Given the description of an element on the screen output the (x, y) to click on. 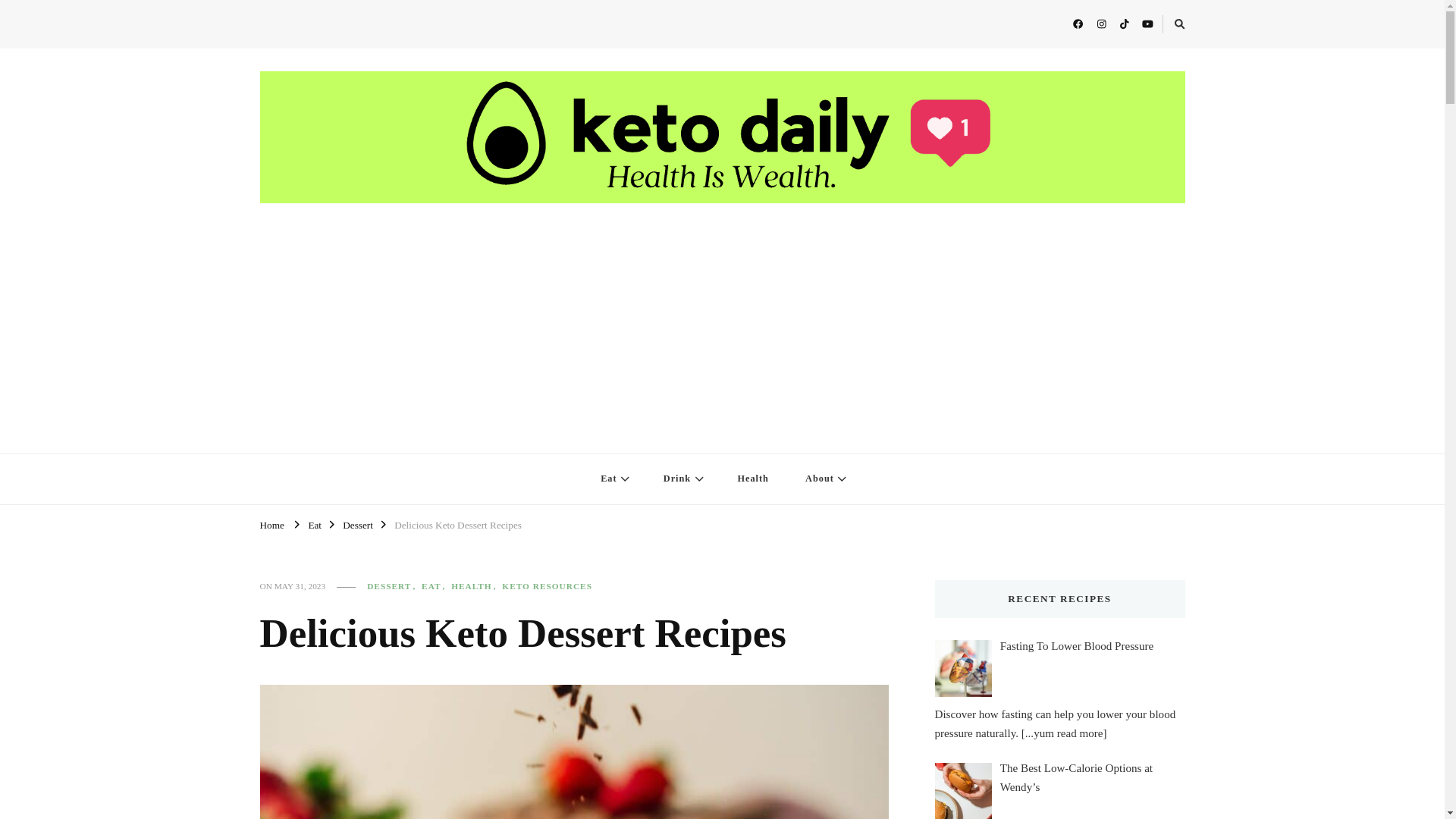
Search (1155, 26)
Home (271, 523)
Keto Daily (308, 443)
Eat (613, 478)
Drink (681, 478)
KETO RESOURCES (547, 585)
DESSERT (392, 585)
Eat (314, 523)
About (824, 478)
Health (752, 478)
Dessert (357, 523)
EAT (435, 585)
Delicious Keto Dessert Recipes (457, 523)
MAY 31, 2023 (299, 585)
